Given the description of an element on the screen output the (x, y) to click on. 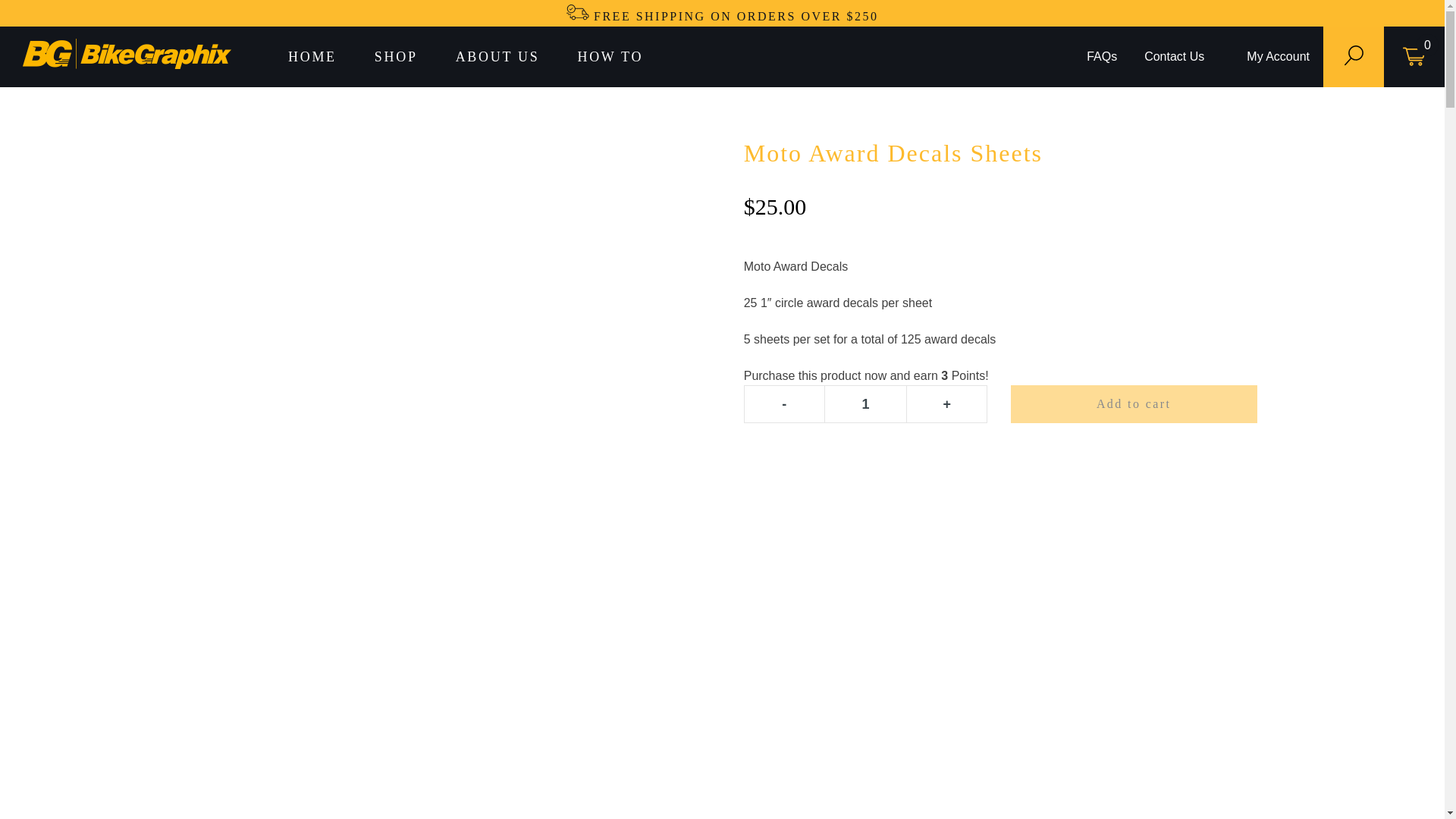
- (784, 403)
Qty (865, 403)
1 (865, 403)
